Given the description of an element on the screen output the (x, y) to click on. 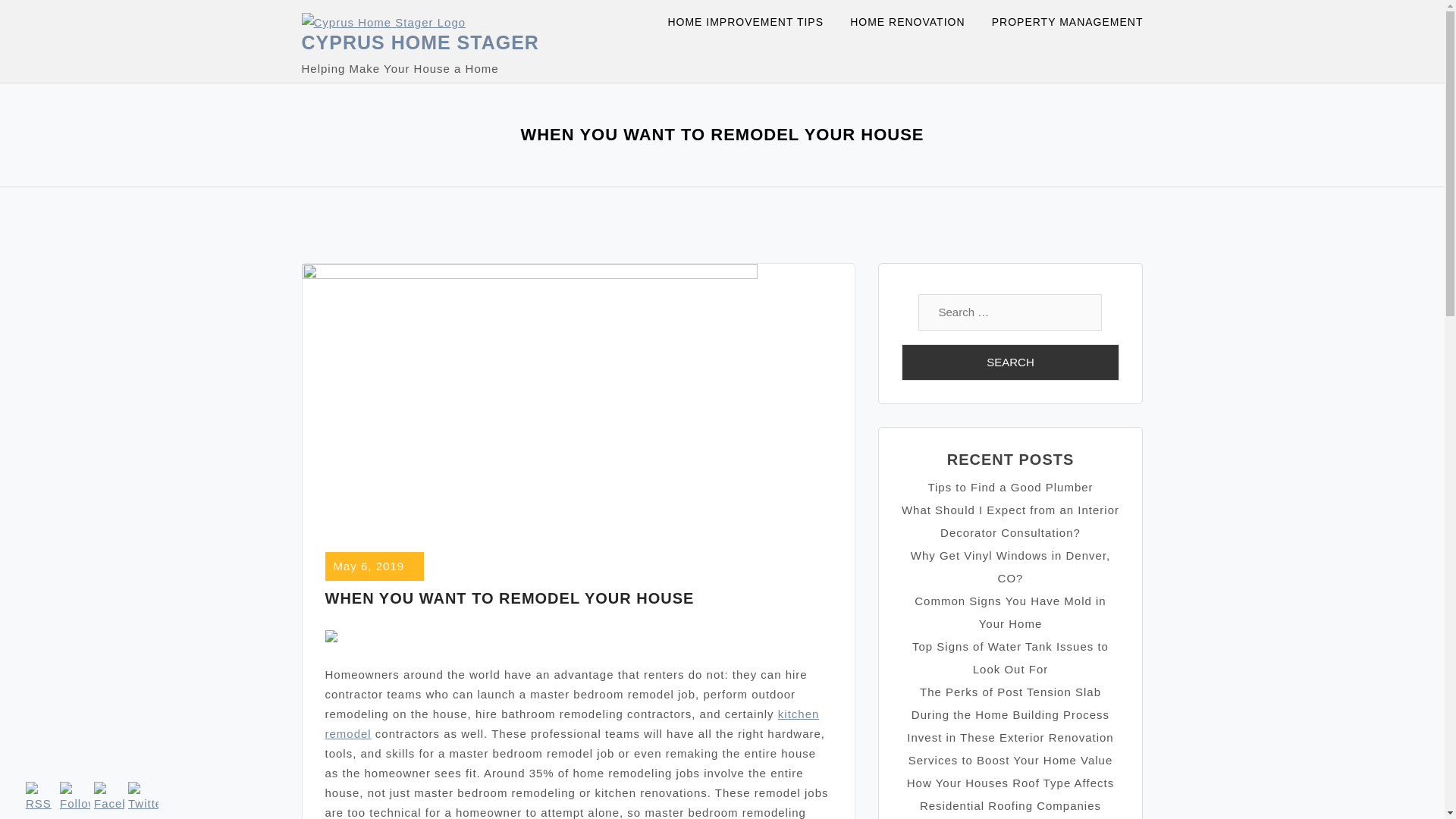
Top Signs of Water Tank Issues to Look Out For (1010, 657)
Tips to Find a Good Plumber (1010, 486)
May 6, 2019 (368, 565)
RSS (41, 798)
Twitter (143, 798)
HOME RENOVATION (917, 22)
New sunroom remodel (571, 723)
HOME IMPROVEMENT TIPS (754, 22)
Why Get Vinyl Windows in Denver, CO? (1010, 566)
